Given the description of an element on the screen output the (x, y) to click on. 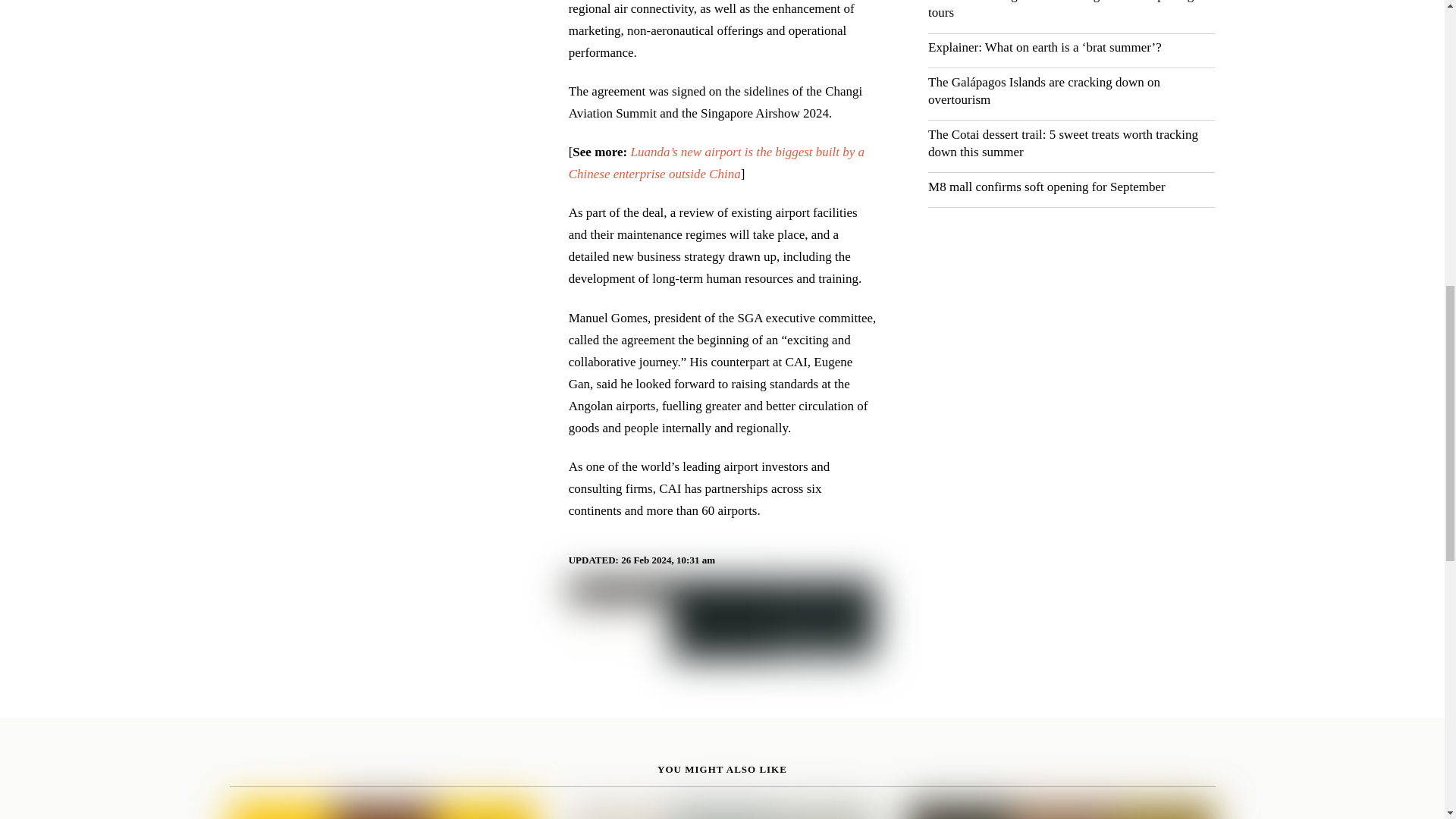
the tea Banner desktop (722, 619)
